Given the description of an element on the screen output the (x, y) to click on. 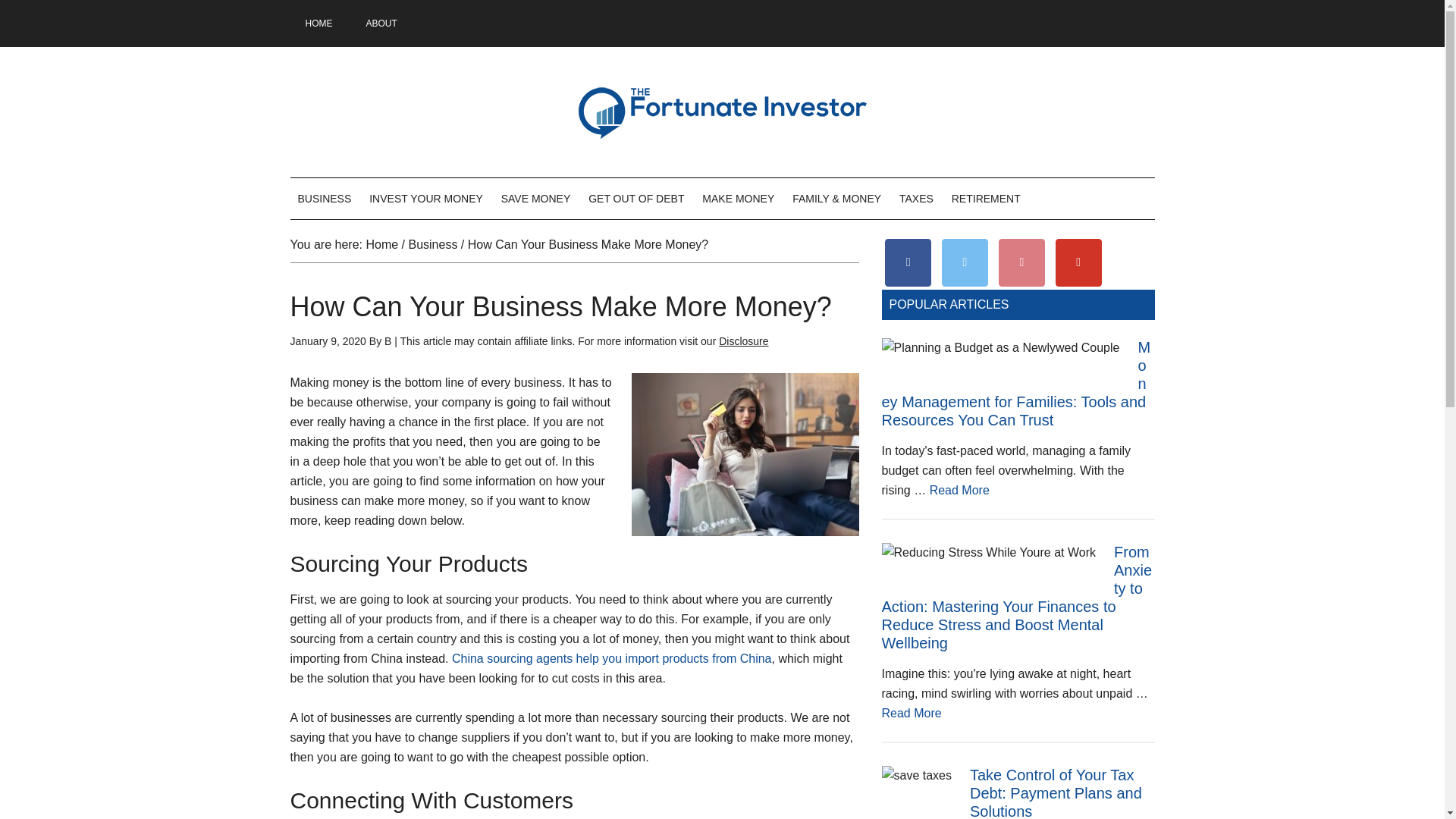
How Can Your Business Make More Money? 1 (744, 454)
BUSINESS (323, 198)
China sourcing agents help you import products from China (611, 658)
RETIREMENT (985, 198)
The Fortunate Investor on Facebook (908, 262)
ABOUT (381, 23)
Business (432, 244)
The Fortunate Investor on X Twitter (965, 262)
The Fortunate Investor on Pinterest (1021, 262)
